Given the description of an element on the screen output the (x, y) to click on. 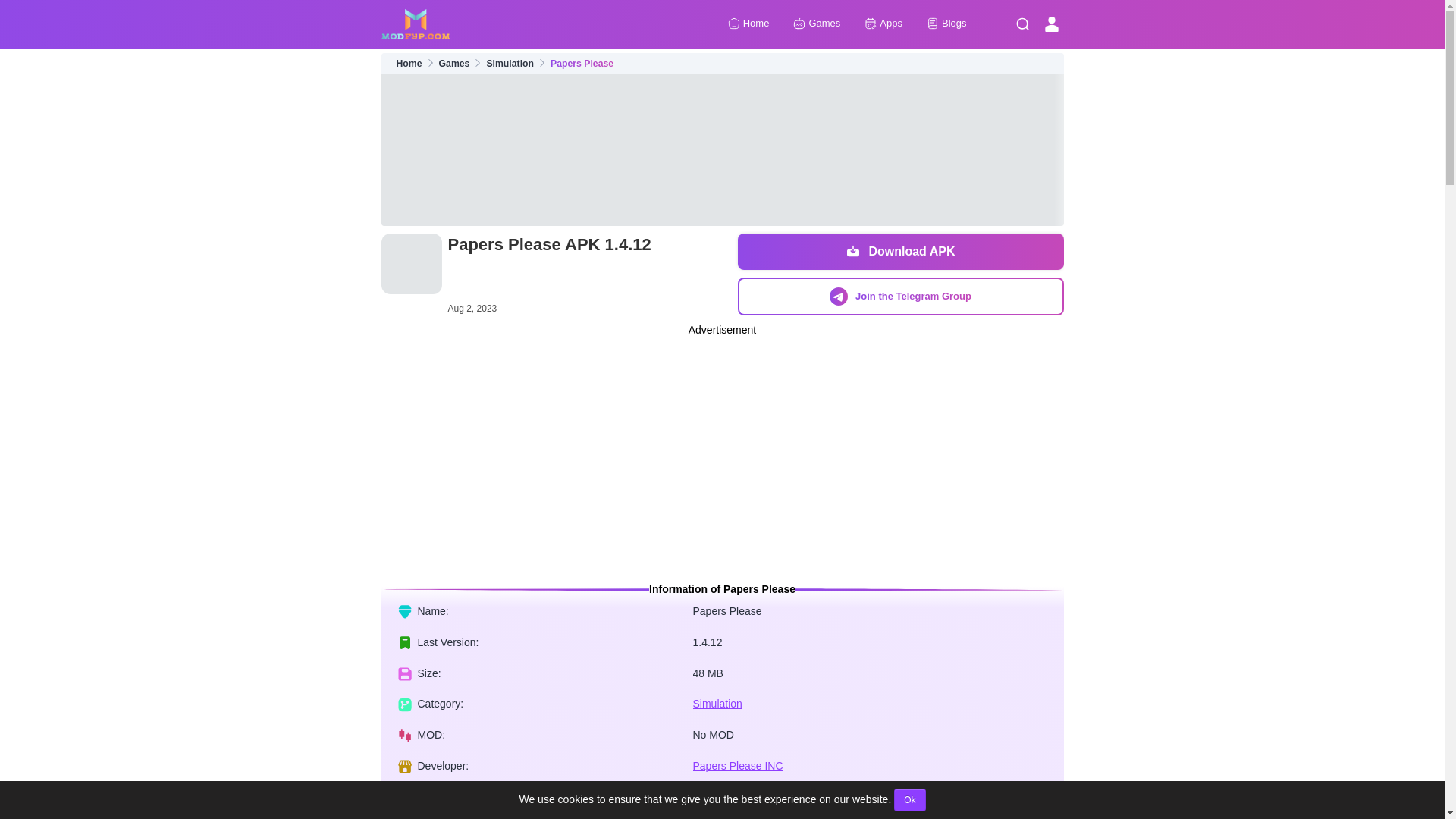
Home (409, 63)
Games (454, 63)
Apps (883, 23)
Download APK (899, 251)
Simulation (510, 63)
Games (816, 23)
Simulation (717, 703)
Home (749, 23)
Apps (883, 23)
Menu (1021, 23)
